Given the description of an element on the screen output the (x, y) to click on. 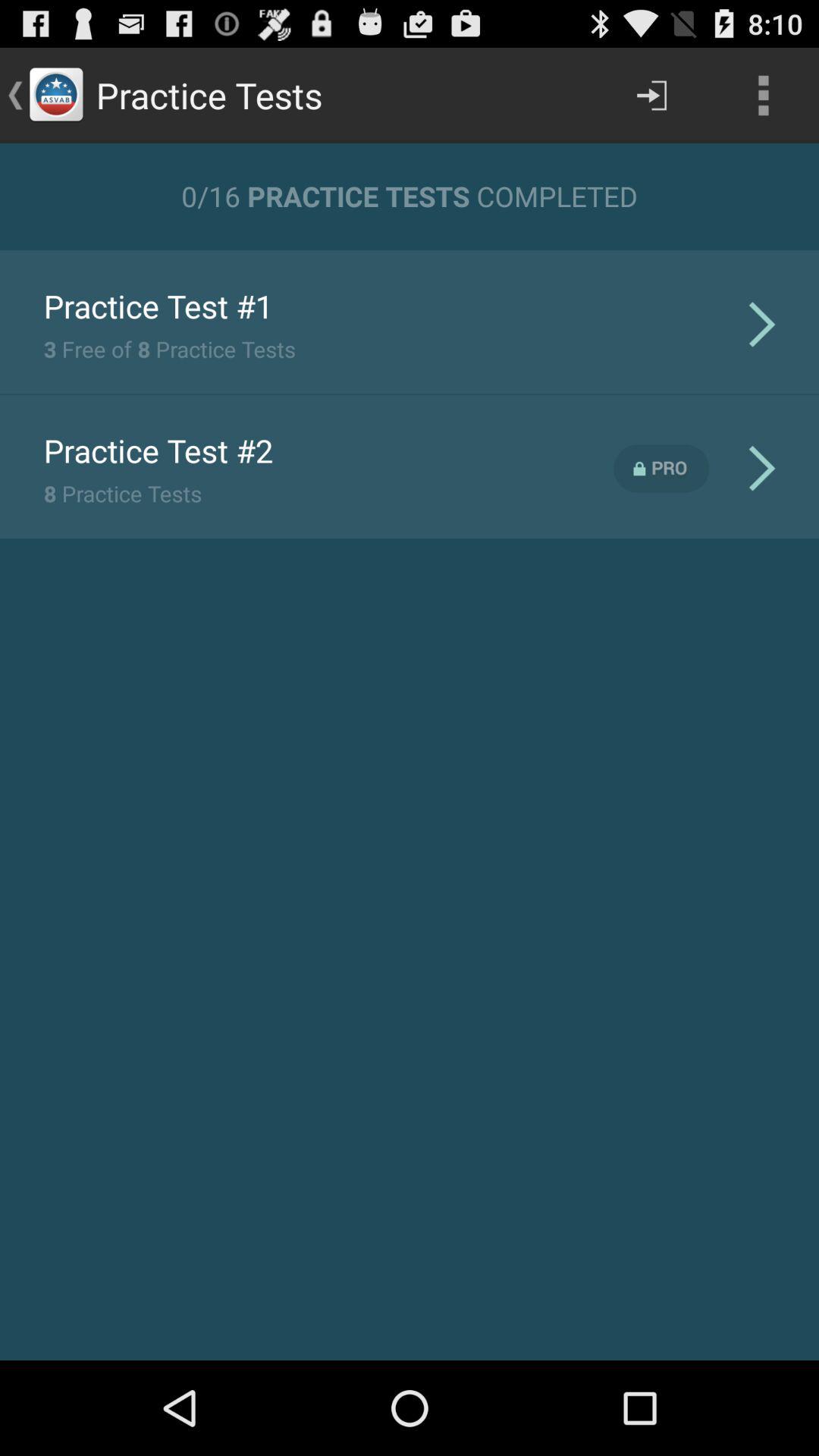
tap app below 0 16 practice icon (409, 249)
